Given the description of an element on the screen output the (x, y) to click on. 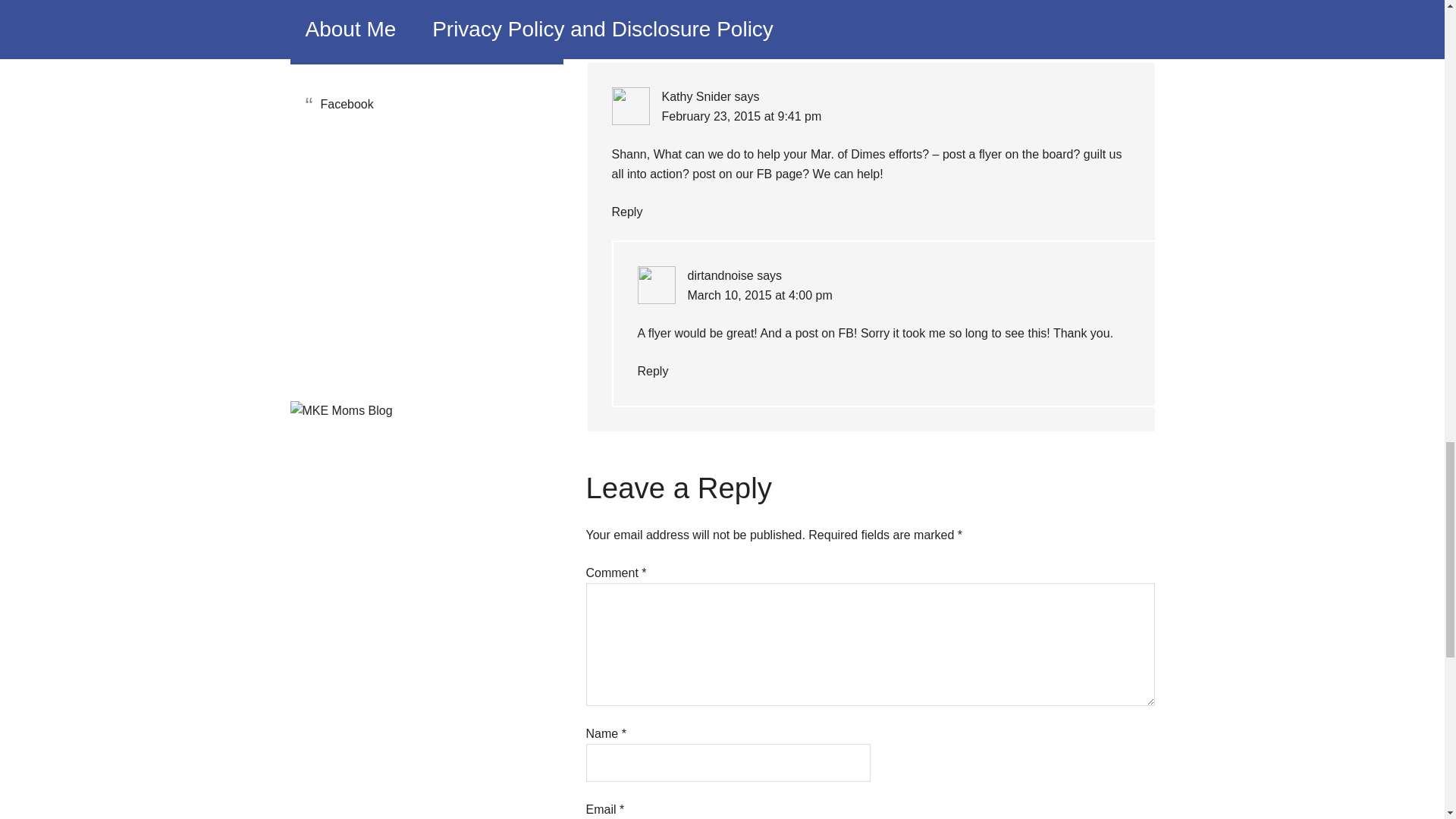
dirtandnoise (719, 275)
Reply (626, 211)
February 23, 2015 at 9:41 pm (741, 115)
March 10, 2015 at 4:00 pm (759, 295)
Reply (652, 370)
